Given the description of an element on the screen output the (x, y) to click on. 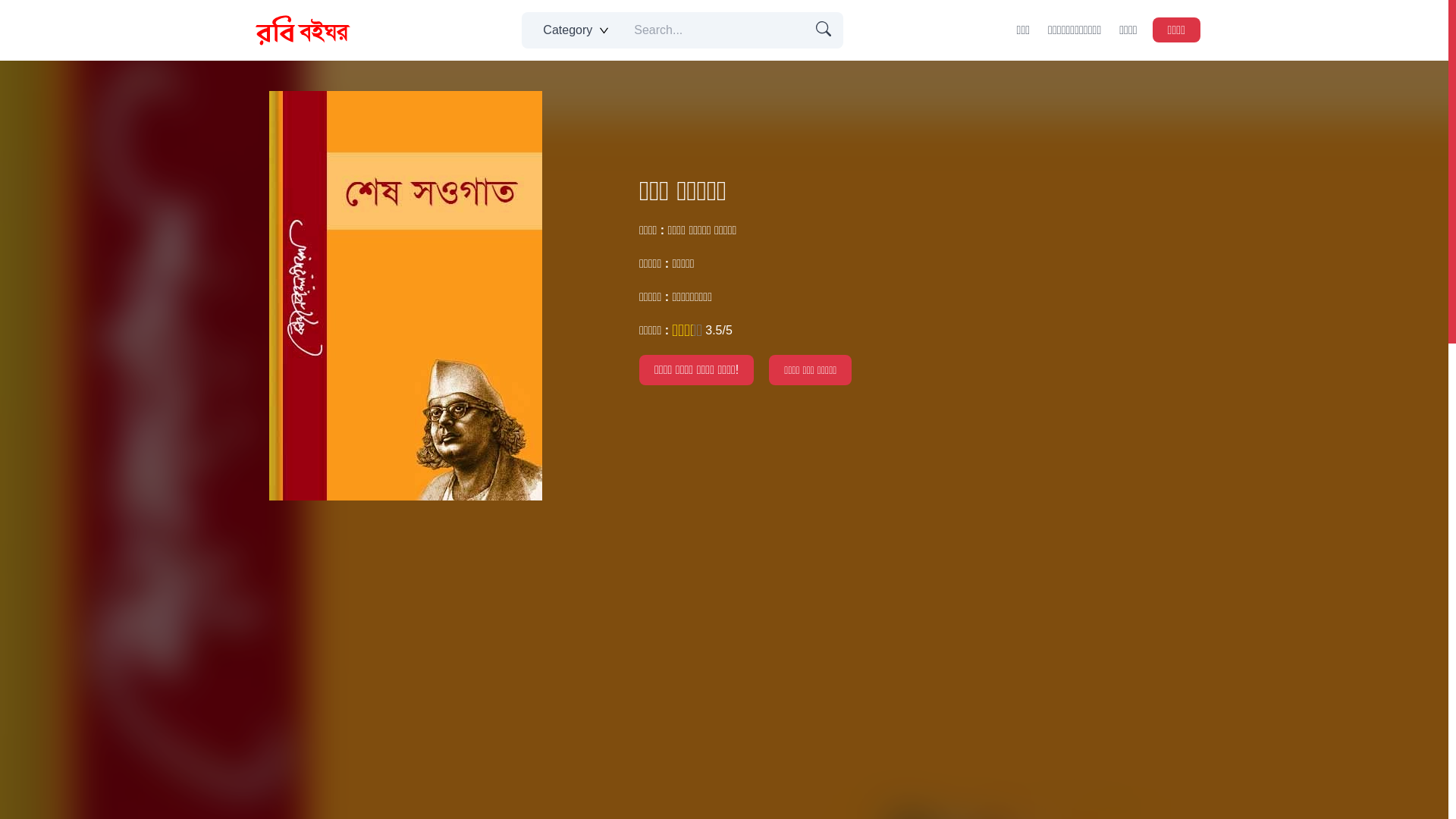
Category Element type: text (572, 30)
